Given the description of an element on the screen output the (x, y) to click on. 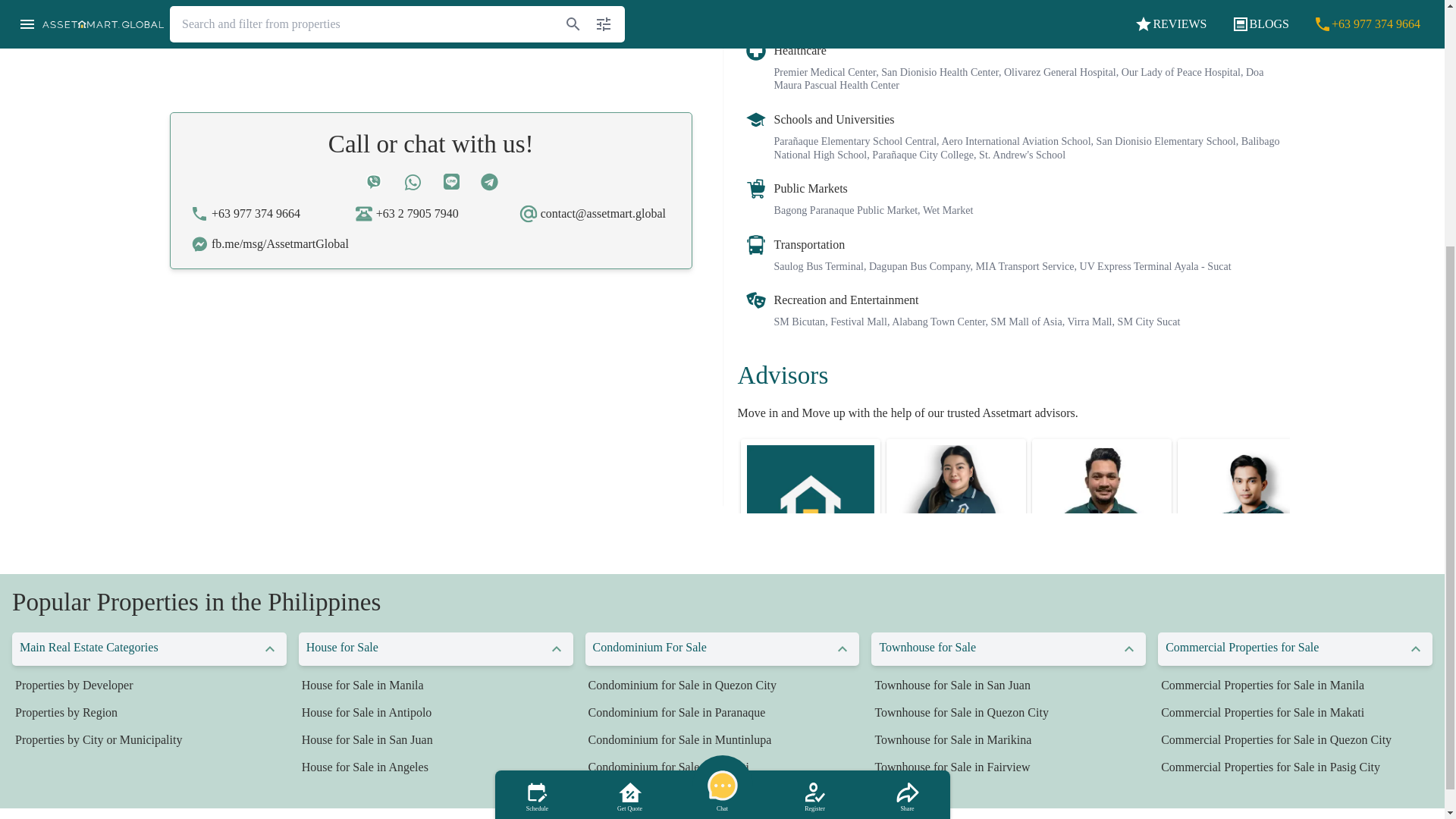
0977 374 9664 (430, 25)
